Given the description of an element on the screen output the (x, y) to click on. 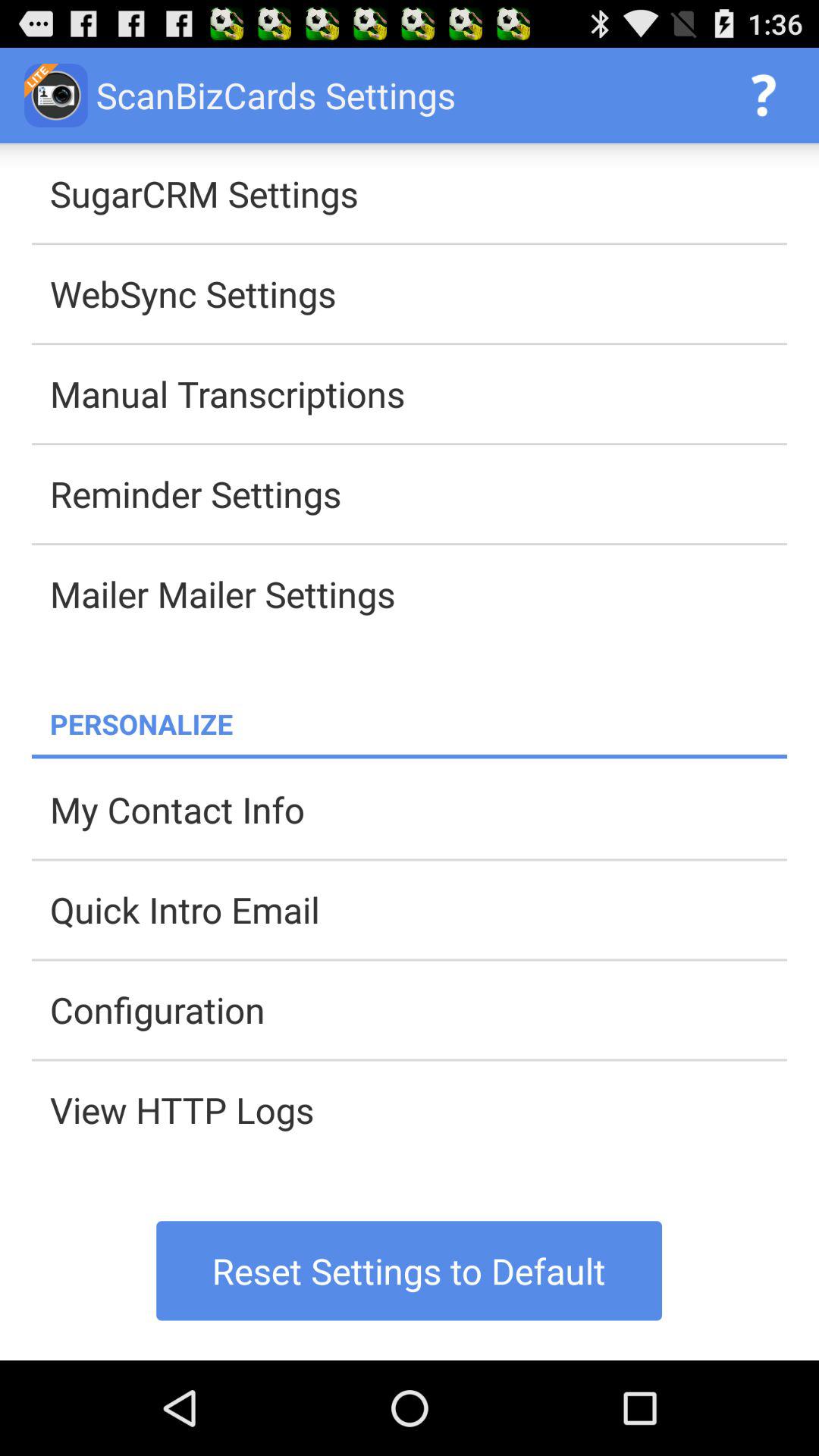
turn off item below the reminder settings app (418, 593)
